Given the description of an element on the screen output the (x, y) to click on. 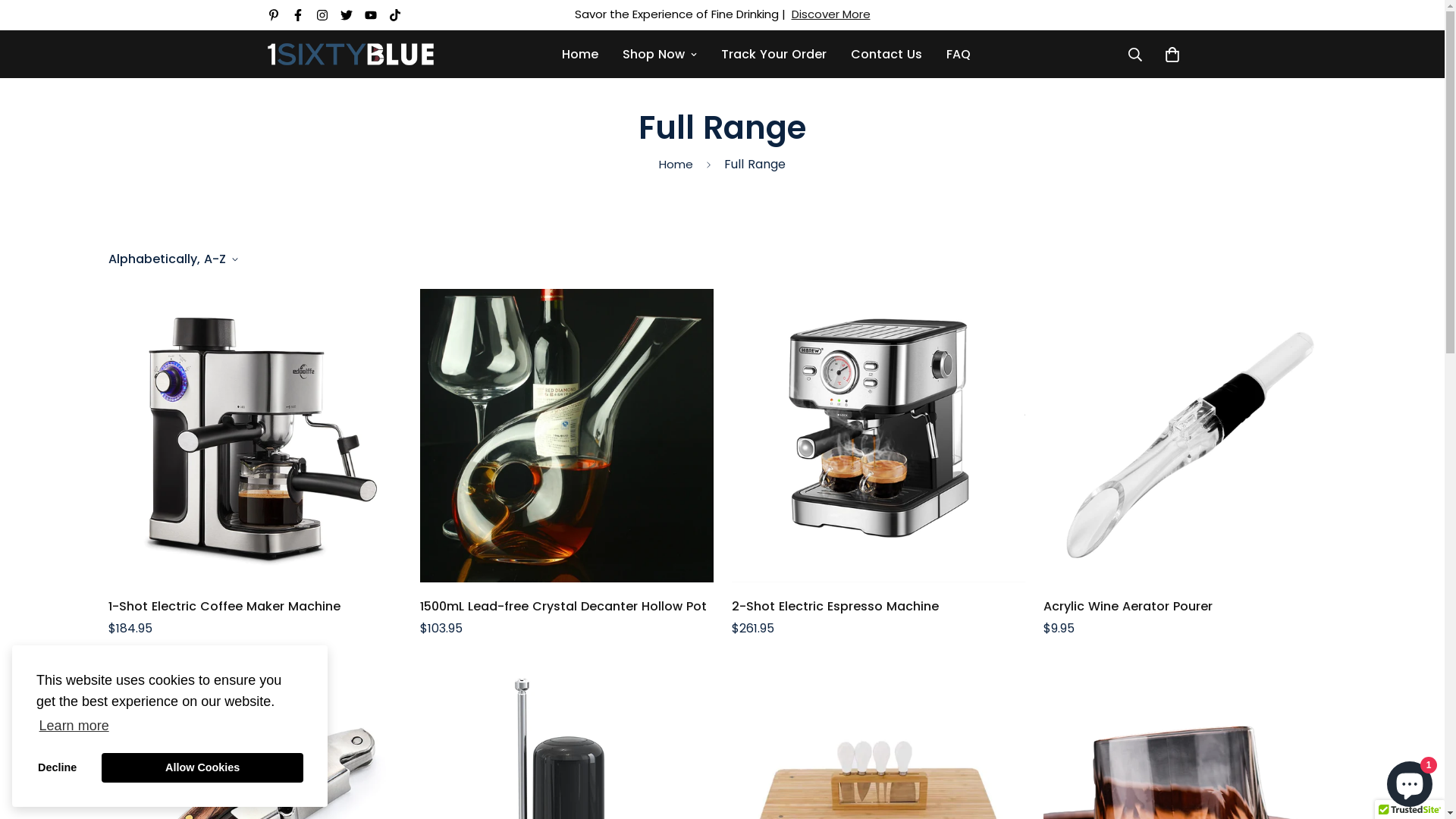
Shopify online store chat Element type: hover (1409, 780)
FAQ Element type: text (958, 54)
Learn more Element type: text (73, 725)
Home Element type: text (675, 164)
Decline Element type: text (57, 767)
1SixtyBlue Element type: hover (349, 54)
Discover More Element type: text (830, 13)
Contact Us Element type: text (886, 54)
Home Element type: text (579, 54)
1500mL Lead-free Crystal Decanter Hollow Pot Element type: text (566, 606)
1-Shot Electric Coffee Maker Machine Element type: text (254, 606)
Allow Cookies Element type: text (202, 767)
2-Shot Electric Espresso Machine Element type: text (877, 606)
Track Your Order Element type: text (773, 54)
Shop Now Element type: text (659, 54)
Acrylic Wine Aerator Pourer Element type: text (1189, 606)
